Given the description of an element on the screen output the (x, y) to click on. 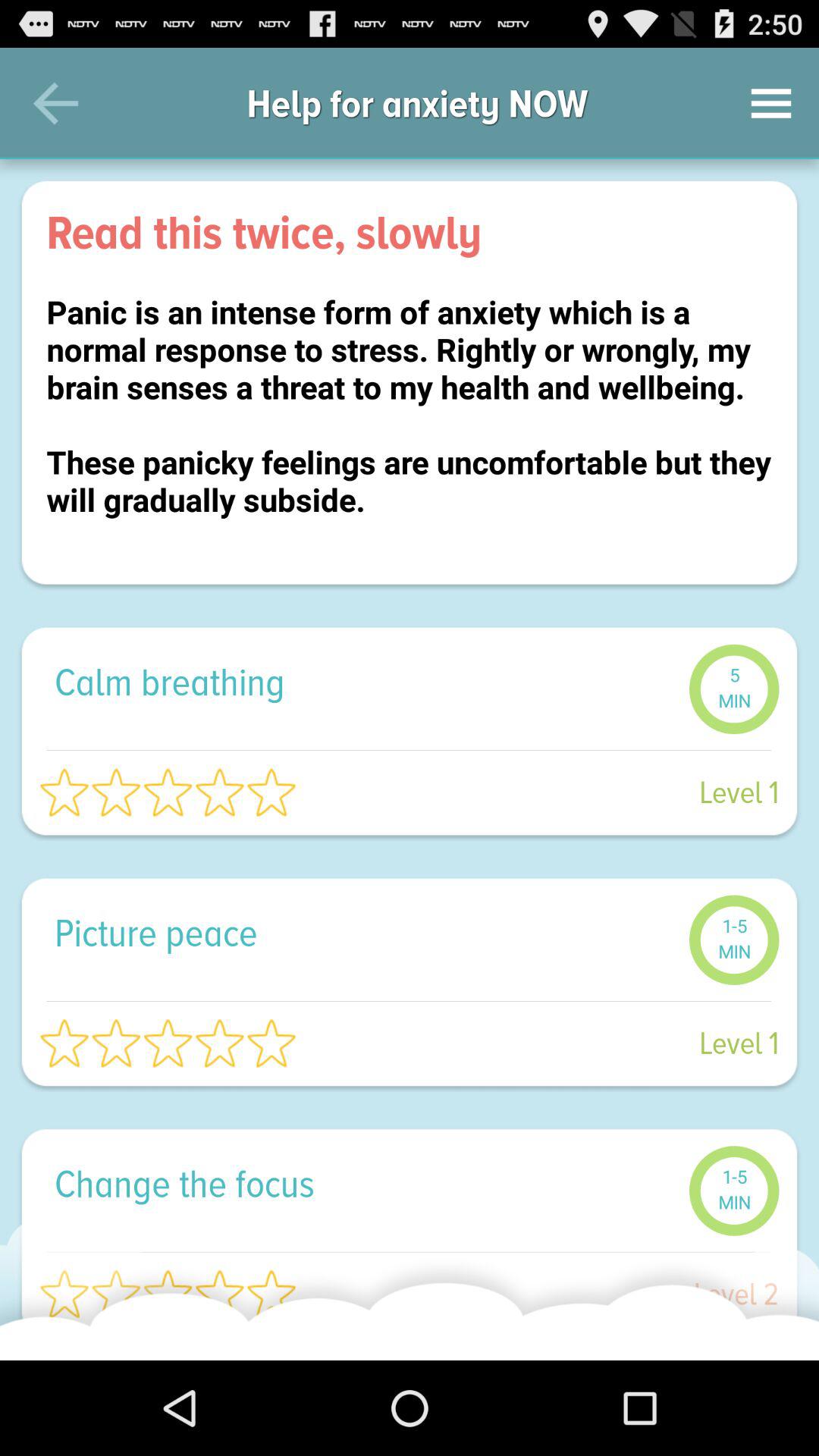
click the item above the read this twice item (55, 103)
